Given the description of an element on the screen output the (x, y) to click on. 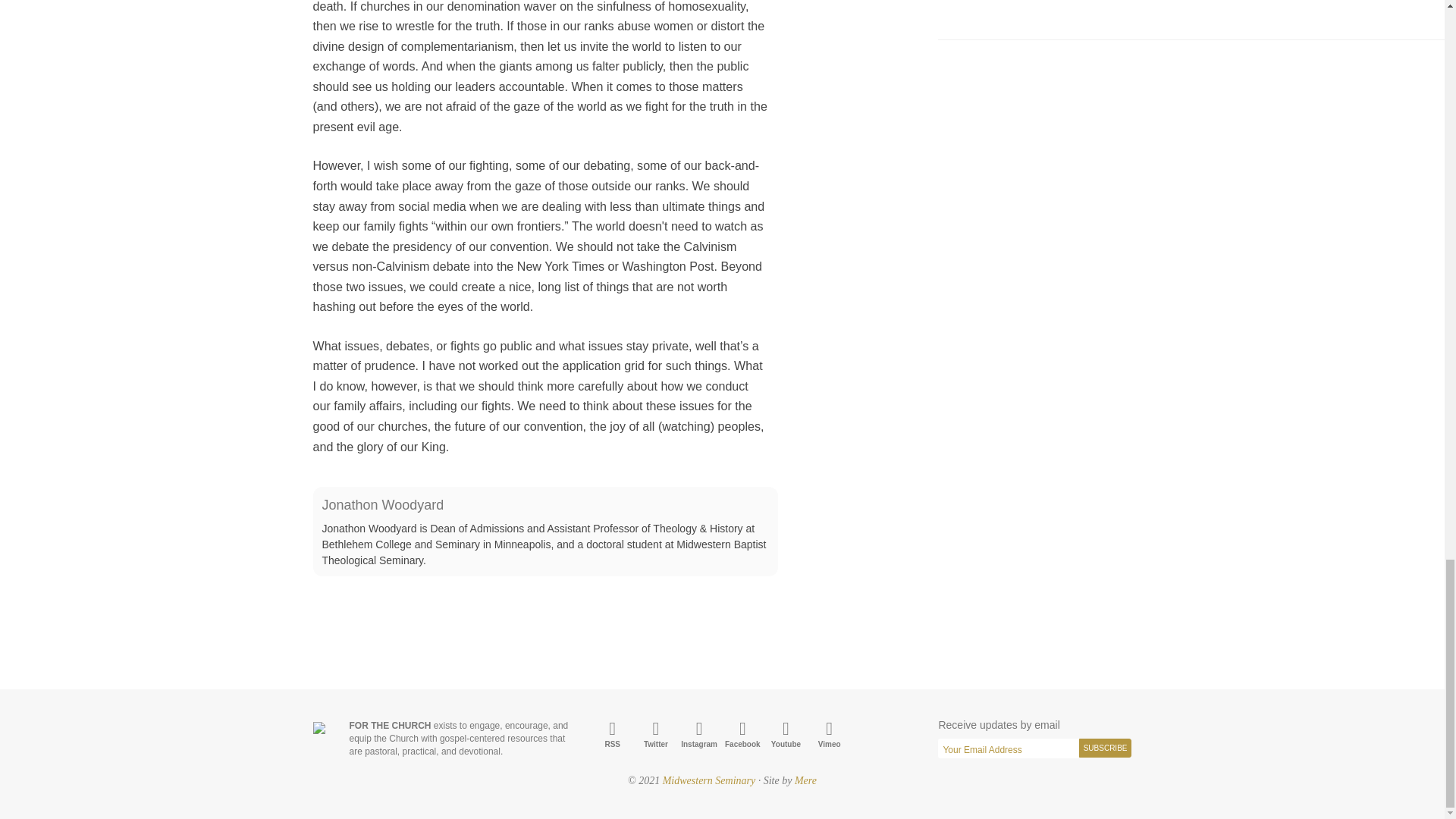
Jonathon Woodyard (382, 504)
Subscribe (1105, 747)
